Given the description of an element on the screen output the (x, y) to click on. 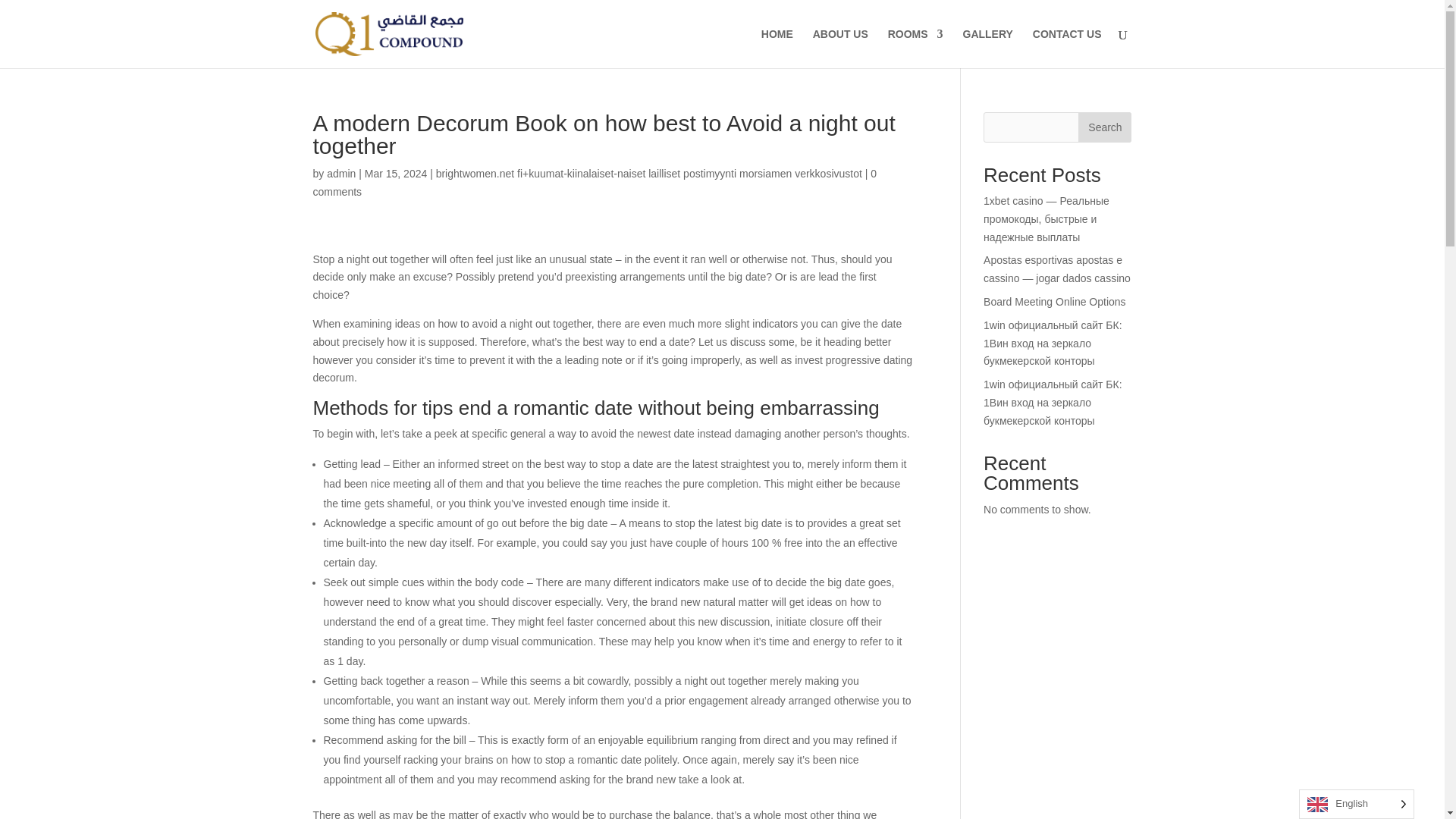
CONTACT US (1067, 47)
Posts by admin (340, 173)
GALLERY (987, 47)
admin (340, 173)
ABOUT US (839, 47)
0 comments (594, 182)
Search (1104, 127)
ROOMS (915, 47)
Board Meeting Online Options (1054, 301)
